Given the description of an element on the screen output the (x, y) to click on. 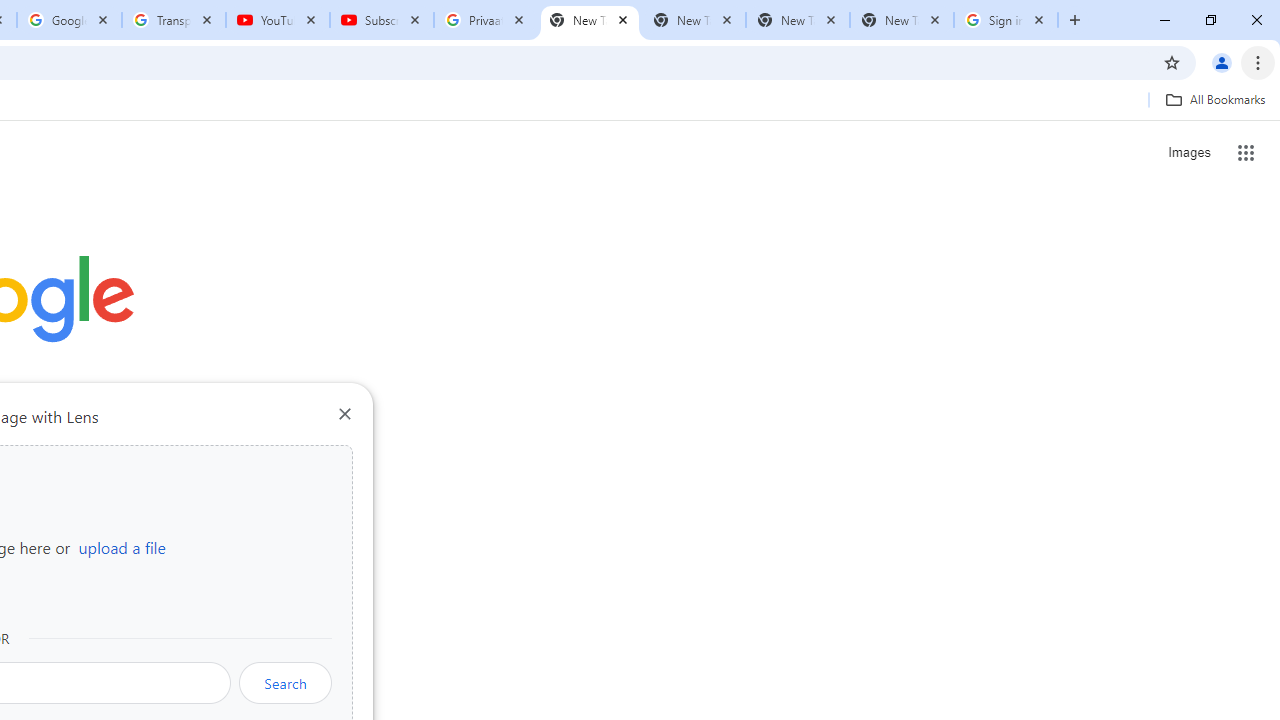
All Bookmarks (1215, 99)
Google Account (68, 20)
Add shortcut (223, 504)
upload a file (122, 547)
Subscriptions - YouTube (381, 20)
Sign in - Google Accounts (1005, 20)
New Tab (901, 20)
